Given the description of an element on the screen output the (x, y) to click on. 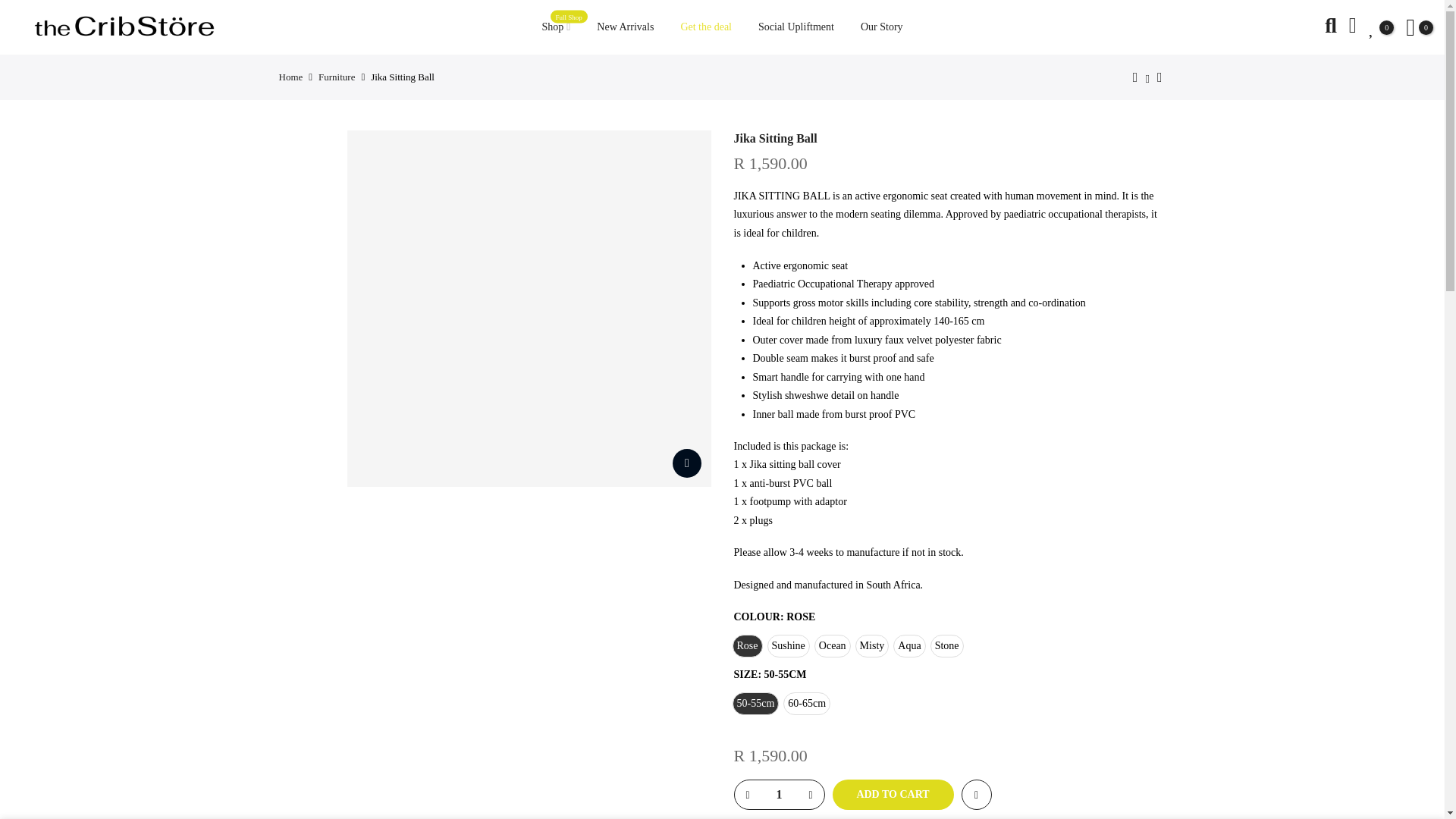
Get the deal (705, 27)
0 (1380, 26)
New Arrivals (624, 27)
1 (778, 794)
0 (1419, 27)
Furniture (336, 77)
ADD TO CART (555, 27)
Our Story (892, 794)
Home (881, 27)
Social Upliftment (290, 77)
